Given the description of an element on the screen output the (x, y) to click on. 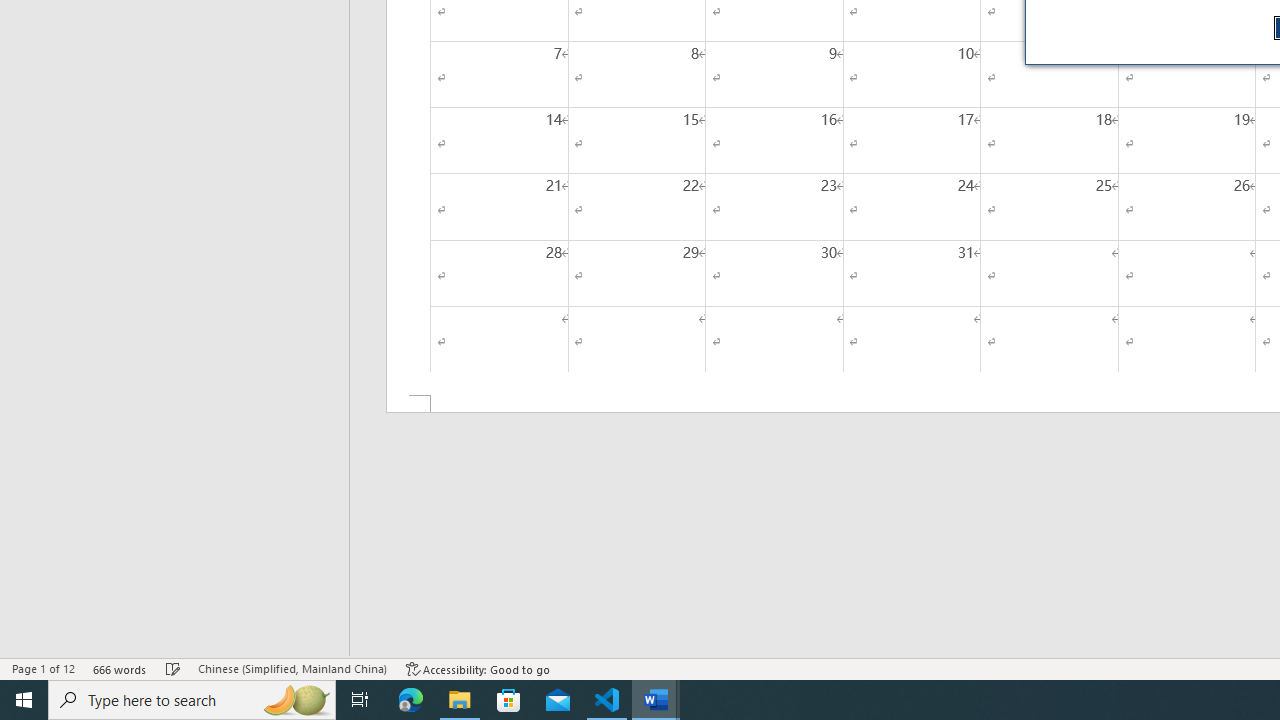
File Explorer - 1 running window (460, 699)
Accessibility Checker Accessibility: Good to go (478, 668)
Task View (359, 699)
Page Number Page 1 of 12 (43, 668)
Visual Studio Code - 1 running window (607, 699)
Start (24, 699)
Search highlights icon opens search home window (295, 699)
Word - 2 running windows (656, 699)
Language Chinese (Simplified, Mainland China) (292, 668)
Word Count 666 words (119, 668)
Microsoft Edge (411, 699)
Microsoft Store (509, 699)
Spelling and Grammar Check Checking (173, 668)
